Given the description of an element on the screen output the (x, y) to click on. 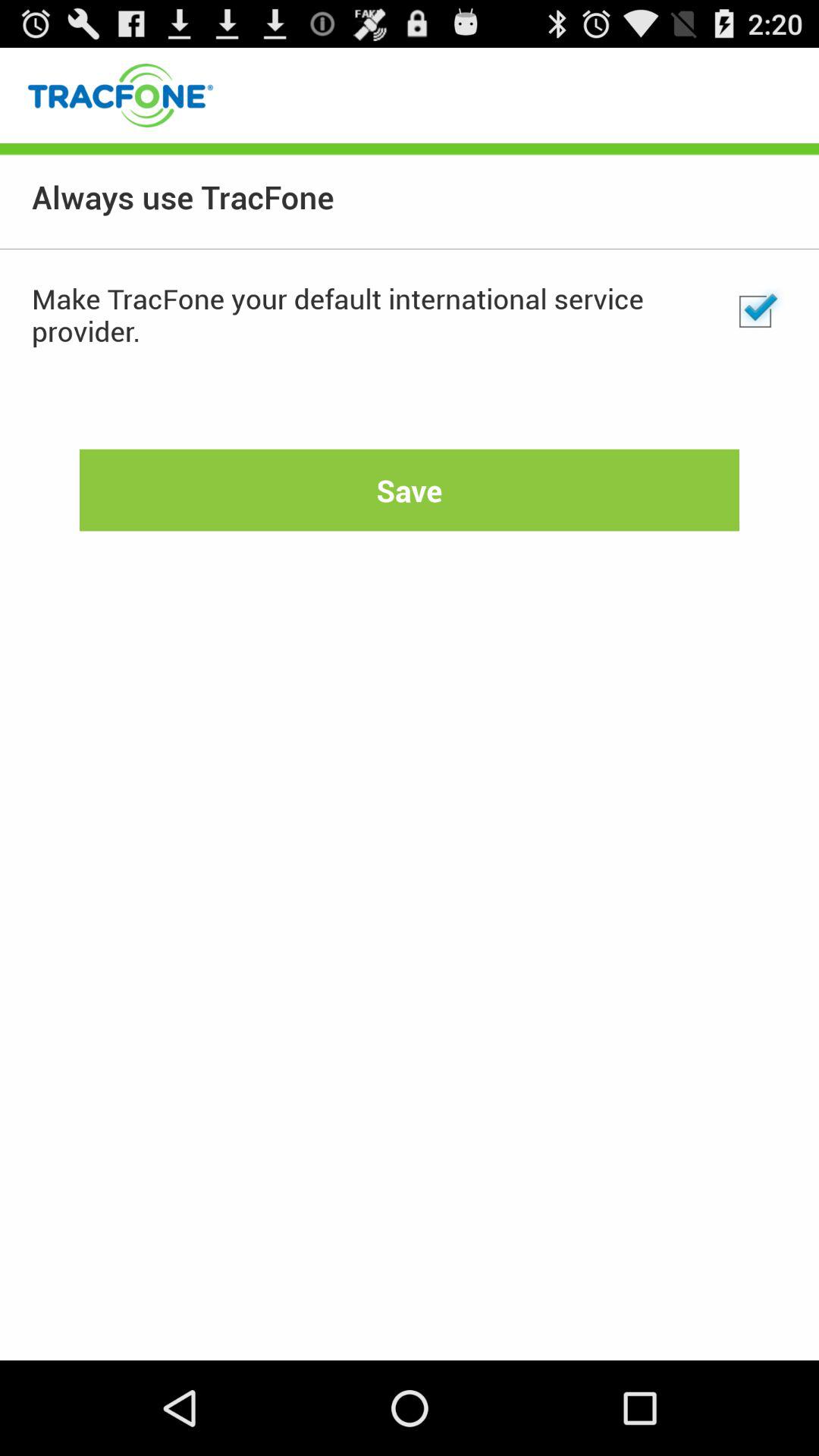
tap the item at the center (409, 490)
